Given the description of an element on the screen output the (x, y) to click on. 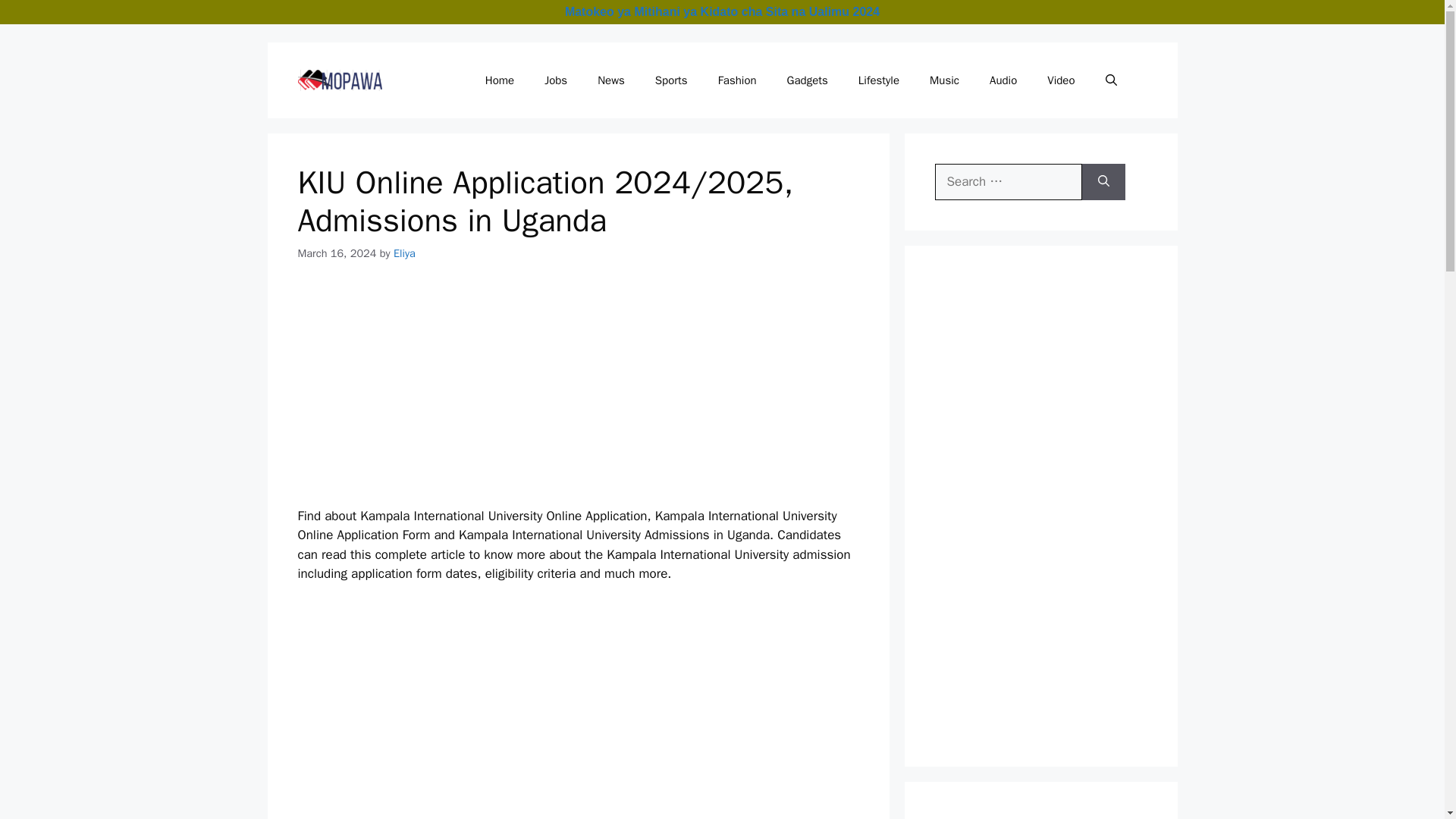
Eliya (403, 253)
Advertisement (1047, 815)
Fashion (737, 80)
Video (1060, 80)
Advertisement (644, 730)
Search for: (1007, 181)
Jobs (555, 80)
News (611, 80)
Music (944, 80)
Matokeo ya Mitihani ya Kidato cha Sita na Ualimu 2024 (721, 11)
View all posts by Eliya (403, 253)
Lifestyle (878, 80)
Sports (671, 80)
Audio (1003, 80)
